Given the description of an element on the screen output the (x, y) to click on. 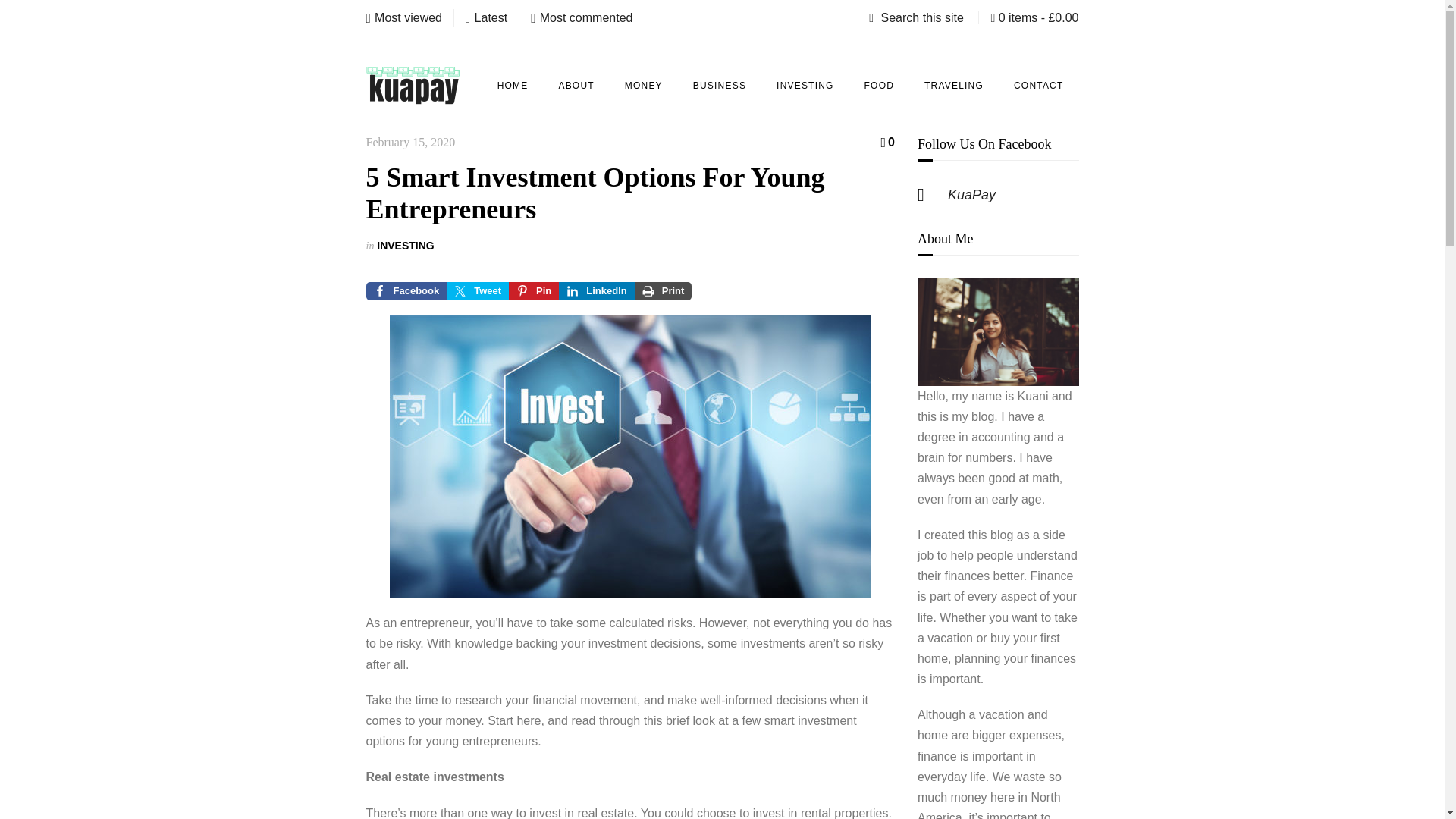
Search this site (917, 17)
Share on Pinterest (533, 290)
Most commented (581, 18)
Share on LinkedIn (596, 290)
Most viewed (403, 18)
Print this Page (663, 290)
Share on Facebook (405, 290)
Share on Twitter (477, 290)
Latest (485, 18)
